Given the description of an element on the screen output the (x, y) to click on. 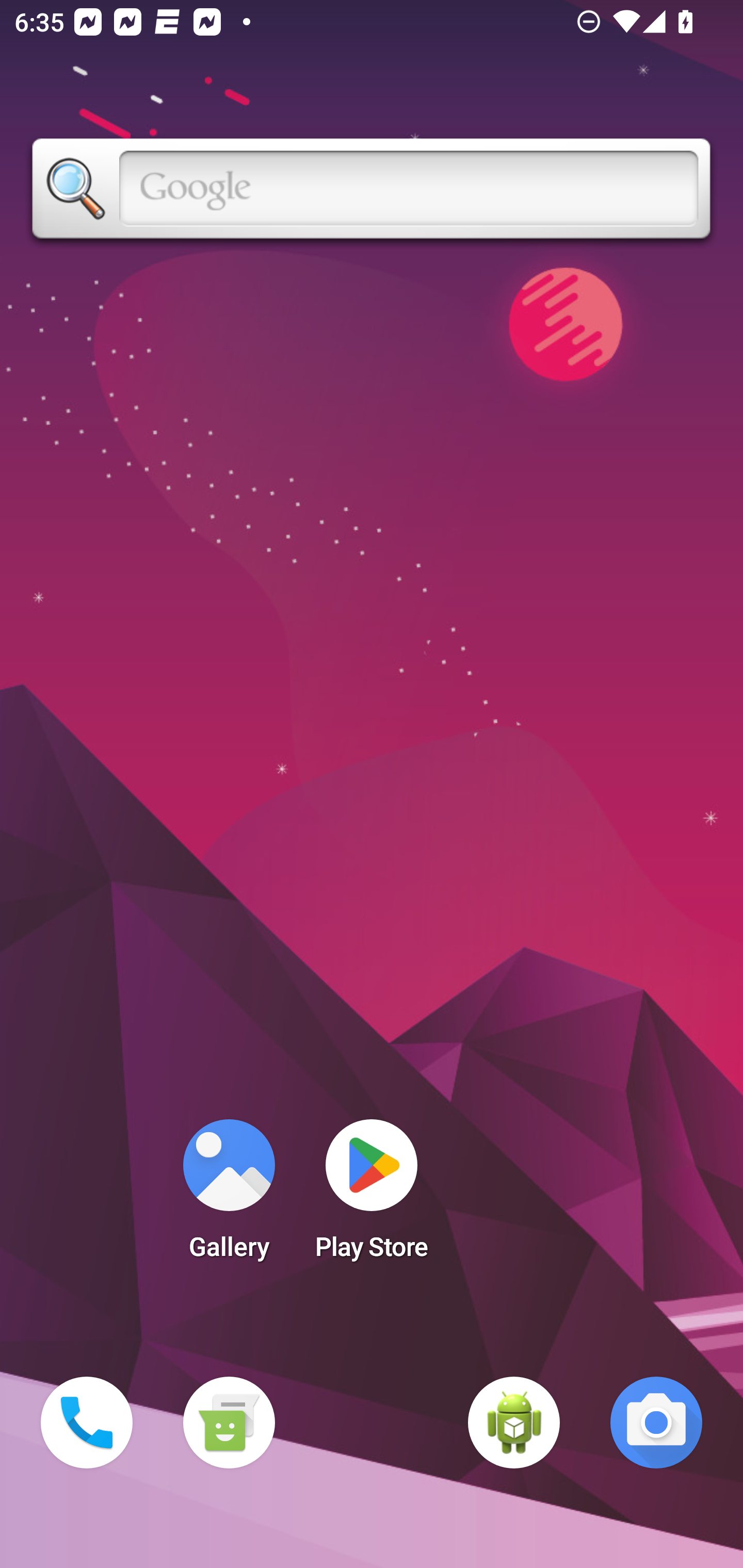
Gallery (228, 1195)
Play Store (371, 1195)
Phone (86, 1422)
Messaging (228, 1422)
WebView Browser Tester (513, 1422)
Camera (656, 1422)
